Given the description of an element on the screen output the (x, y) to click on. 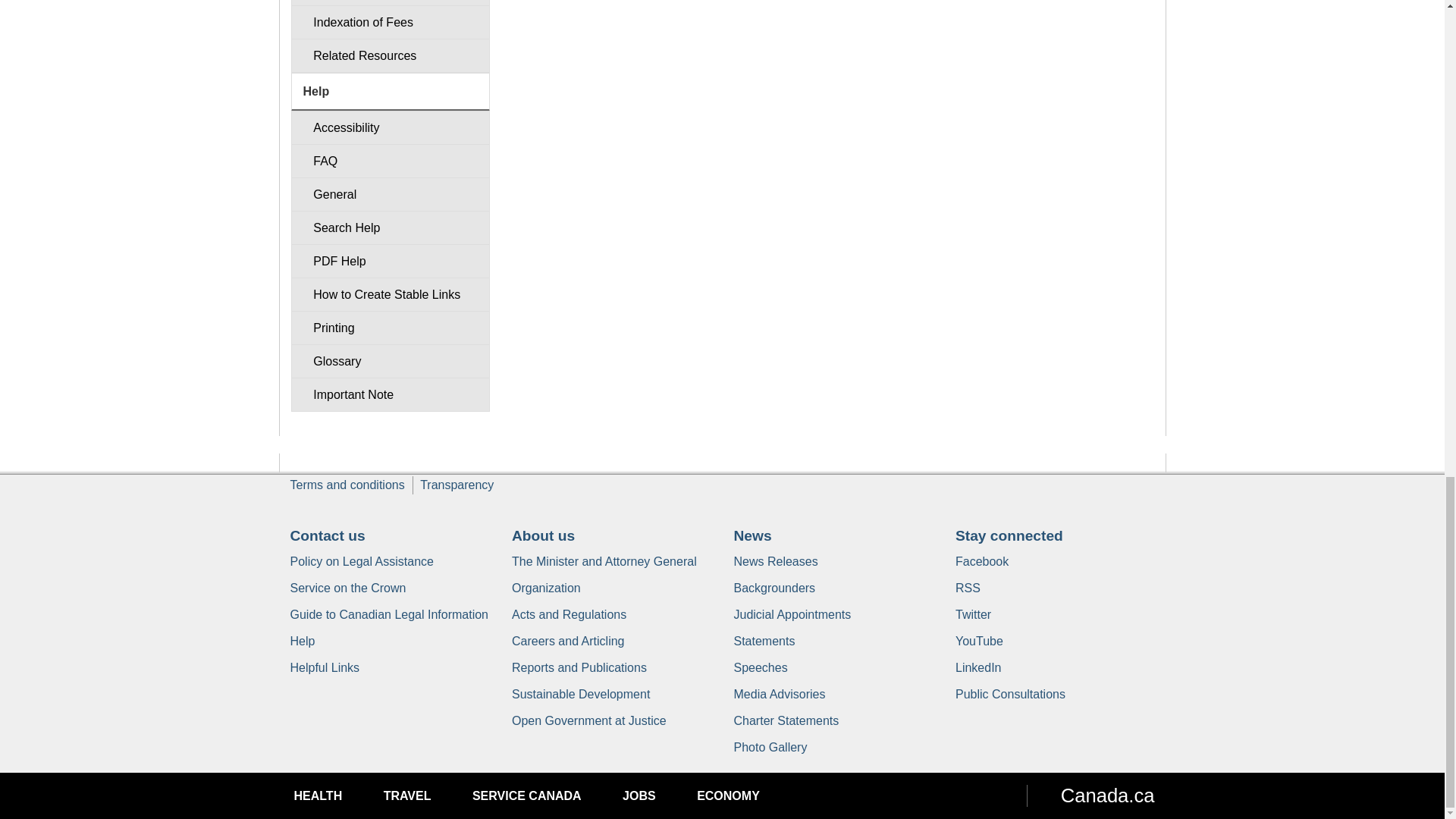
Related Resources (390, 55)
General Help (390, 194)
Printing Help (390, 327)
Accessibility Help (390, 127)
Frequently Asked Questions (390, 161)
Helpful links (324, 667)
